Given the description of an element on the screen output the (x, y) to click on. 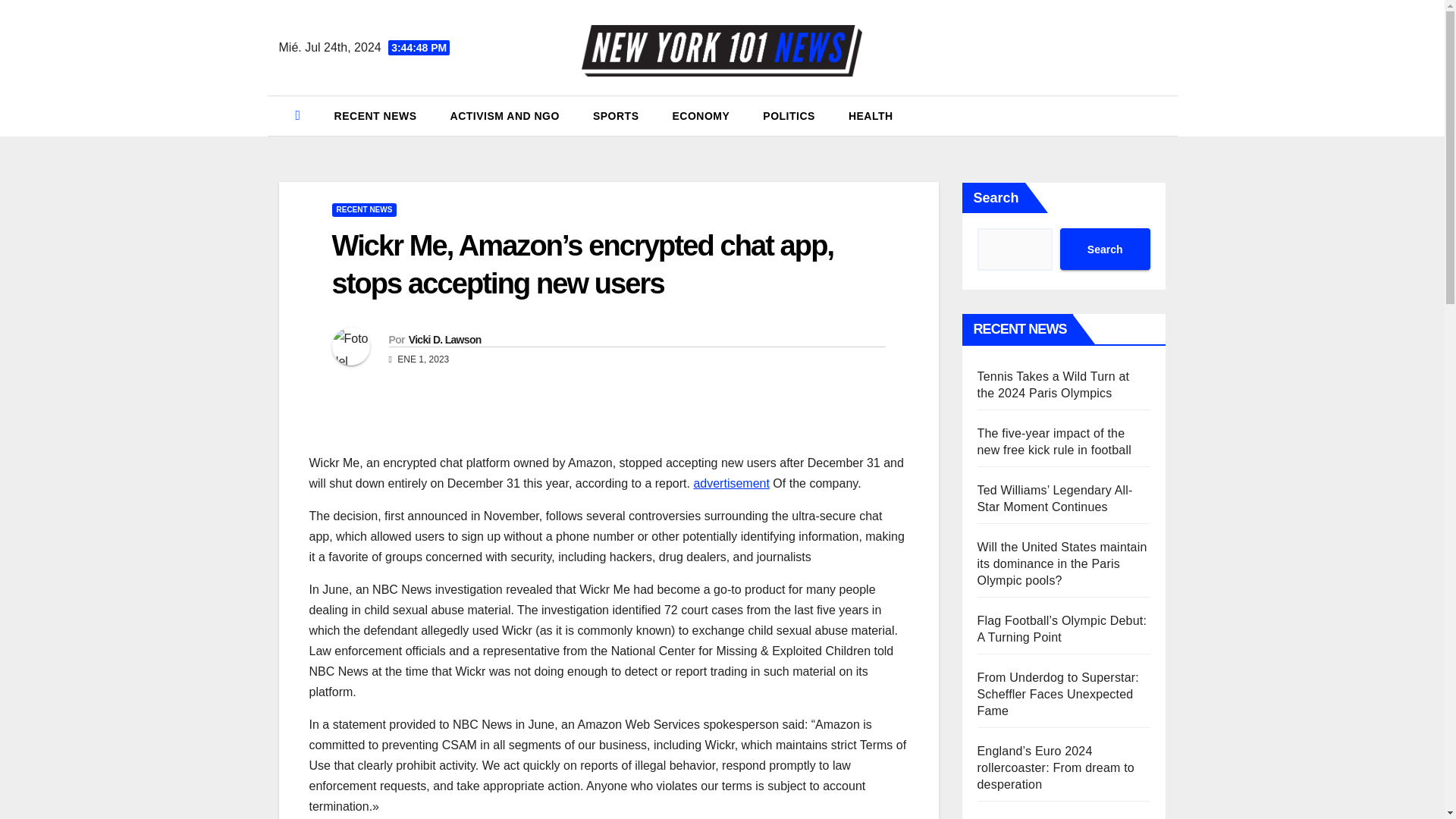
HEALTH (870, 115)
advertisement (731, 482)
Recent news (375, 115)
SPORTS (616, 115)
Economy (700, 115)
RECENT NEWS (364, 210)
ECONOMY (700, 115)
Sports (616, 115)
POLITICS (788, 115)
RECENT NEWS (375, 115)
Politics (788, 115)
ACTIVISM AND NGO (504, 115)
Vicki D. Lawson (445, 339)
Activism and NGO (504, 115)
Health (870, 115)
